Given the description of an element on the screen output the (x, y) to click on. 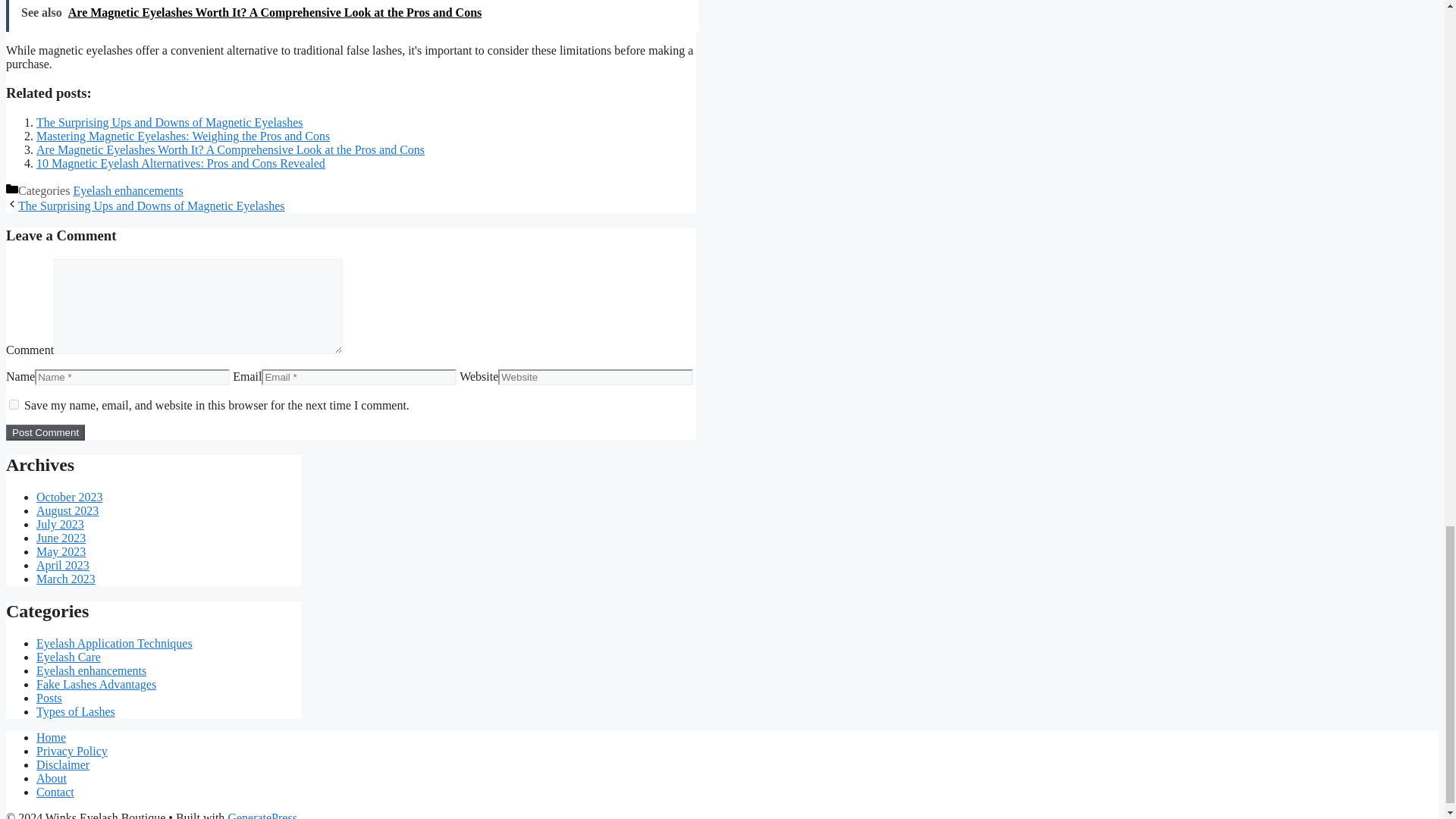
The Surprising Ups and Downs of Magnetic Eyelashes (169, 122)
Home (50, 737)
Mastering Magnetic Eyelashes: Weighing the Pros and Cons (183, 135)
April 2023 (62, 564)
About (51, 778)
October 2023 (69, 496)
10 Magnetic Eyelash Alternatives: Pros and Cons Revealed (180, 163)
Eyelash enhancements (91, 670)
Eyelash enhancements (127, 190)
Disclaimer (62, 764)
The Surprising Ups and Downs of Magnetic Eyelashes (151, 205)
Mastering Magnetic Eyelashes: Weighing the Pros and Cons (183, 135)
Post Comment (44, 432)
